Given the description of an element on the screen output the (x, y) to click on. 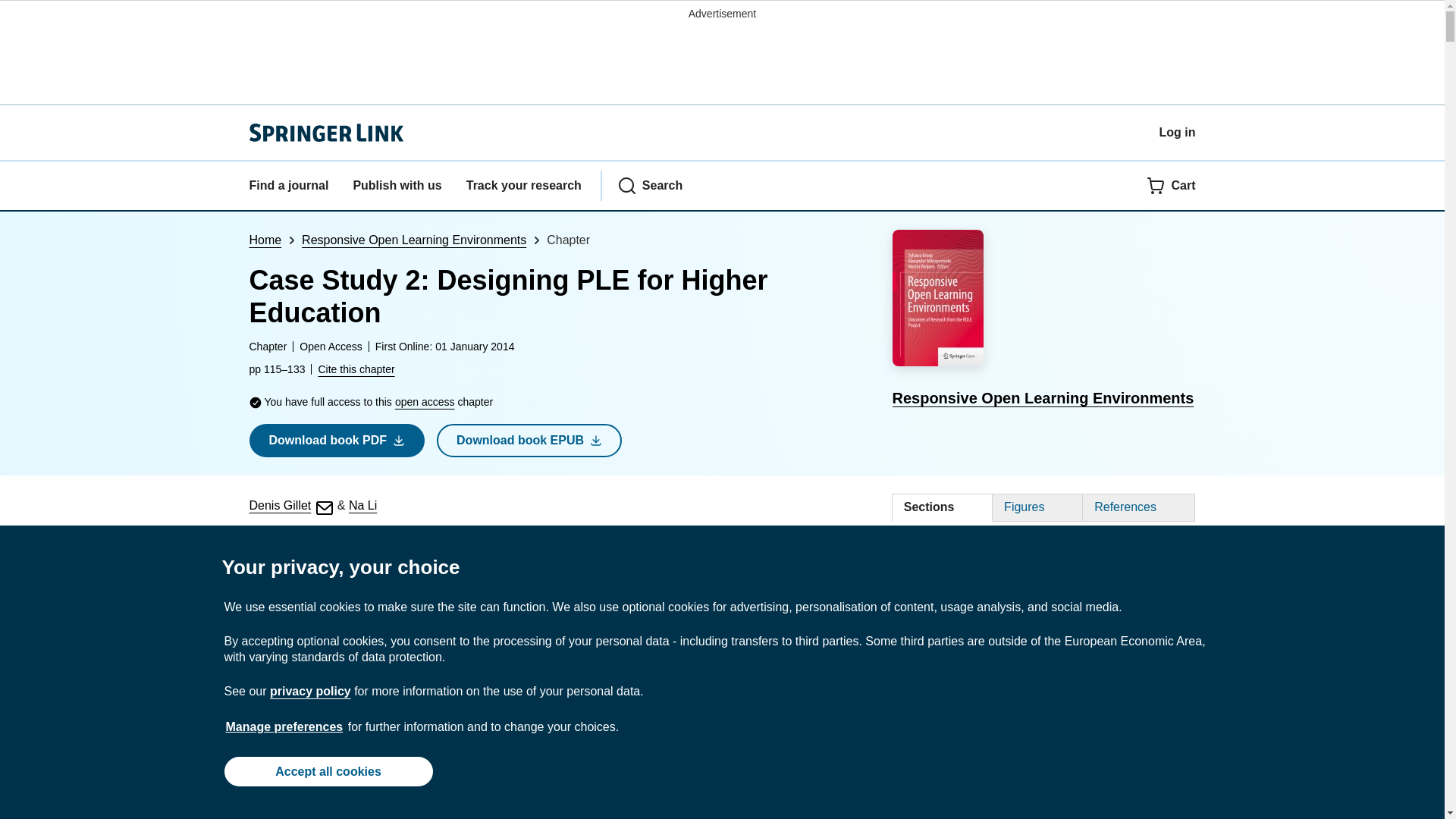
Cart (1170, 185)
privacy policy (309, 690)
Find a journal (288, 185)
Denis Gillet (290, 504)
Visit Springer Citations for full citation details (418, 569)
Responsive Open Learning Environments (413, 239)
Altmetric (512, 569)
Home (264, 239)
Log in (1177, 132)
Download book EPUB (528, 440)
Citations (418, 569)
Cite this chapter (355, 369)
Search (649, 185)
Responsive Open Learning Environments (1043, 320)
Visit Altmetric for full social mention details (512, 569)
